Given the description of an element on the screen output the (x, y) to click on. 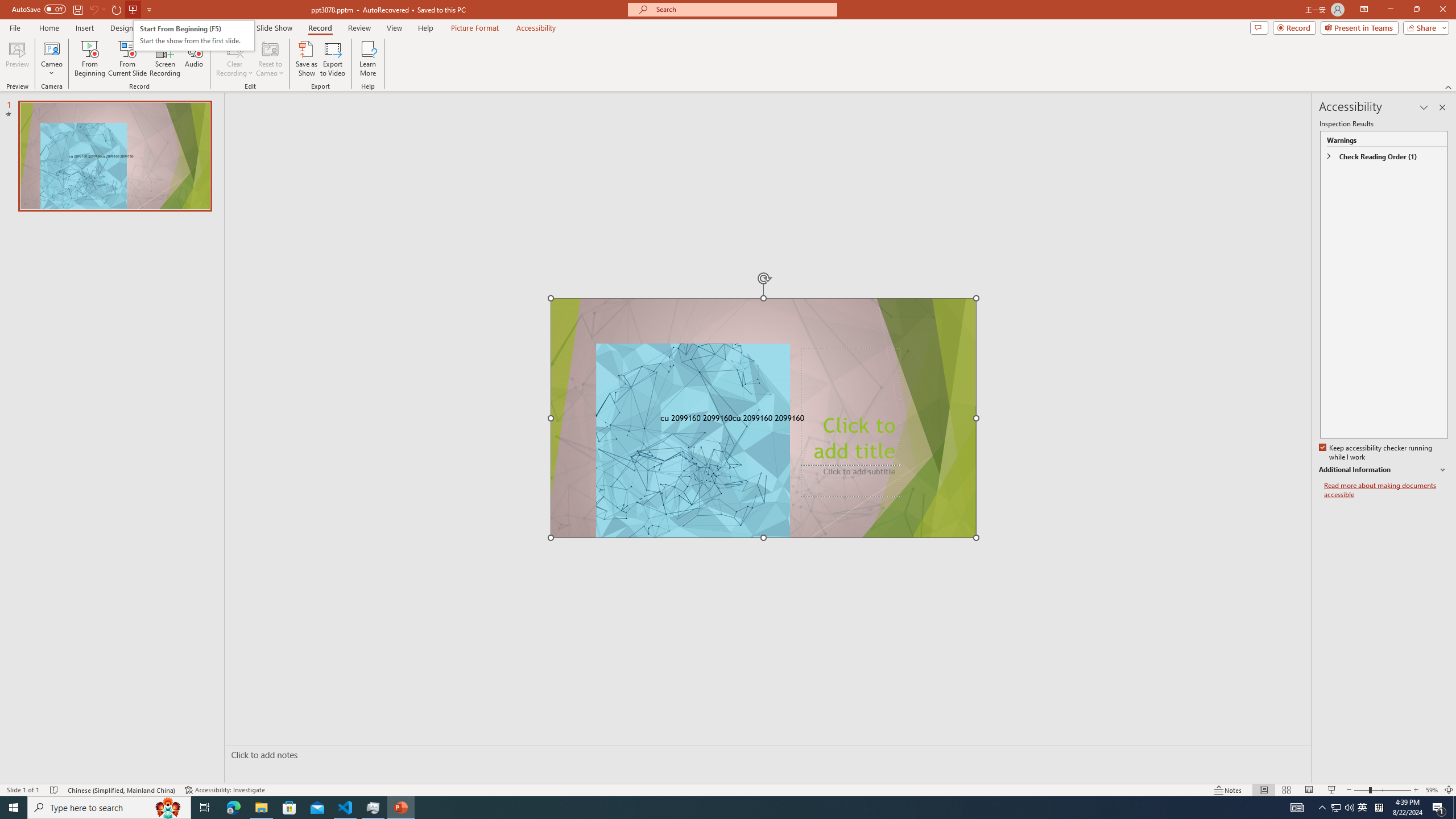
Zoom 59% (1431, 790)
